Given the description of an element on the screen output the (x, y) to click on. 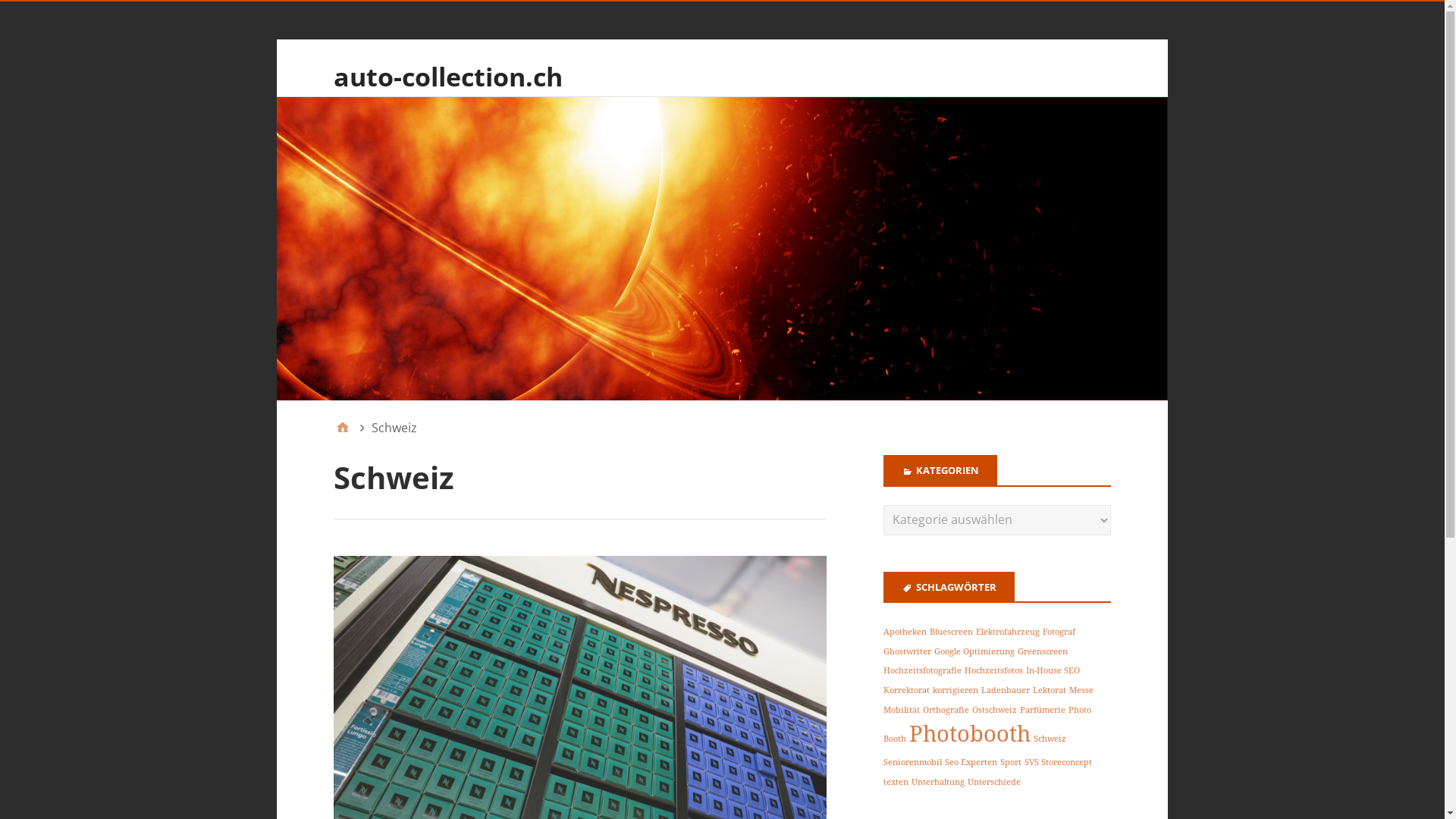
texten Element type: text (895, 782)
Bluescreen Element type: text (950, 632)
Ghostwriter Element type: text (907, 651)
Sport Element type: text (1010, 762)
Orthografie Element type: text (945, 710)
Lektorat Element type: text (1049, 690)
Apotheken Element type: text (904, 632)
auto-collection.ch Element type: text (447, 76)
korrigieren Element type: text (955, 690)
Unterschiede Element type: text (993, 782)
SVS Storeconcept Element type: text (1058, 762)
Messe Element type: text (1081, 690)
Greenscreen Element type: text (1042, 651)
Unterhaltung Element type: text (937, 782)
Fotograf Element type: text (1058, 632)
Ostschweiz Element type: text (994, 710)
Hochzeitsfotos Element type: text (993, 670)
Photobooth Element type: text (969, 733)
Elektrofahrzeug Element type: text (1007, 632)
Hochzeitsfotografie Element type: text (922, 670)
In-House SEO Element type: text (1052, 670)
Seo Experten Element type: text (970, 762)
Ladenbauer Element type: text (1005, 690)
Seniorenmobil Element type: text (912, 762)
Google Optimierung Element type: text (974, 651)
Korrektorat Element type: text (906, 690)
Schweiz Element type: text (1049, 738)
Photo Booth Element type: text (987, 724)
